Given the description of an element on the screen output the (x, y) to click on. 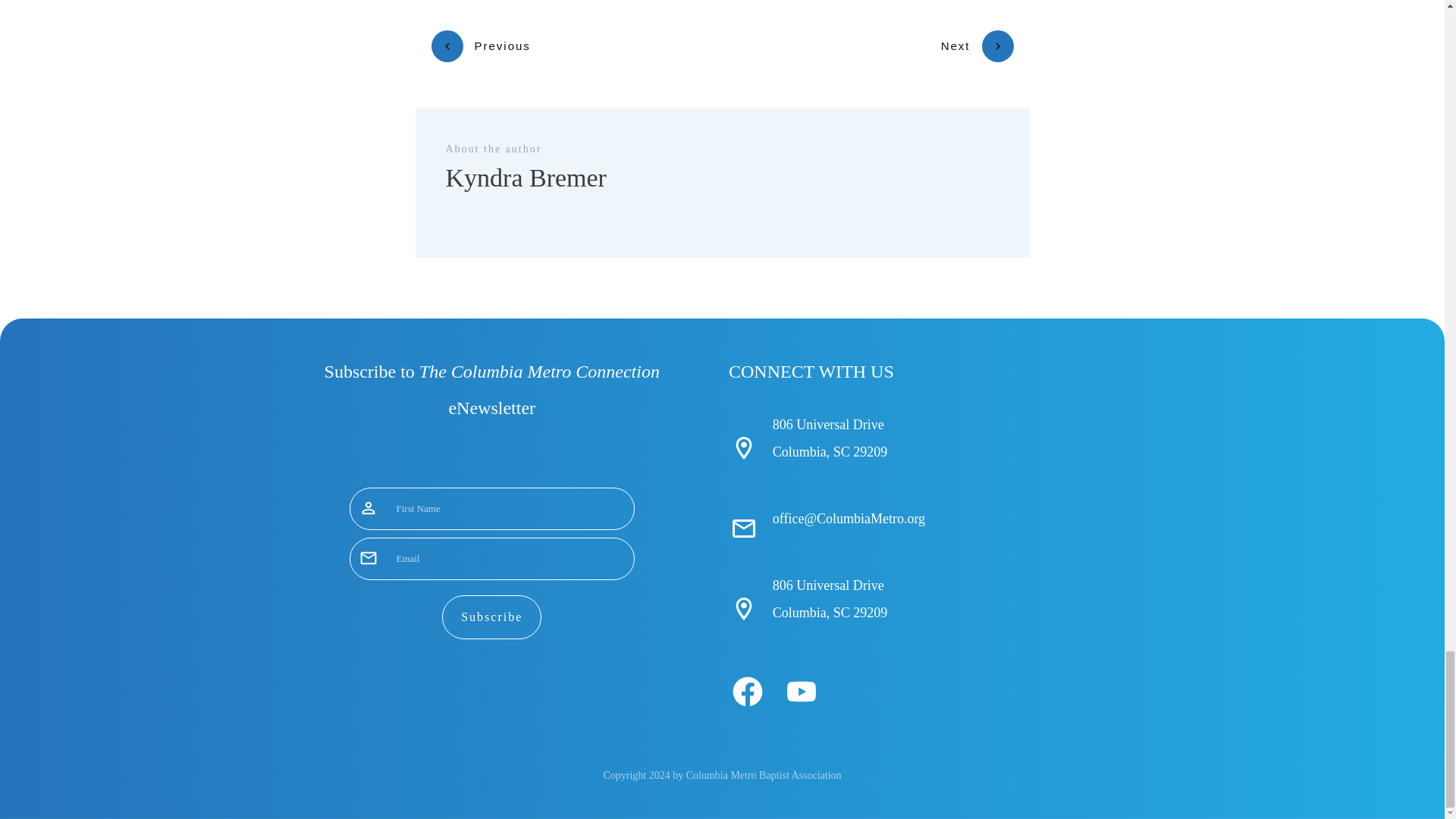
Subscribe (491, 616)
Next (976, 46)
Previous (479, 46)
